Given the description of an element on the screen output the (x, y) to click on. 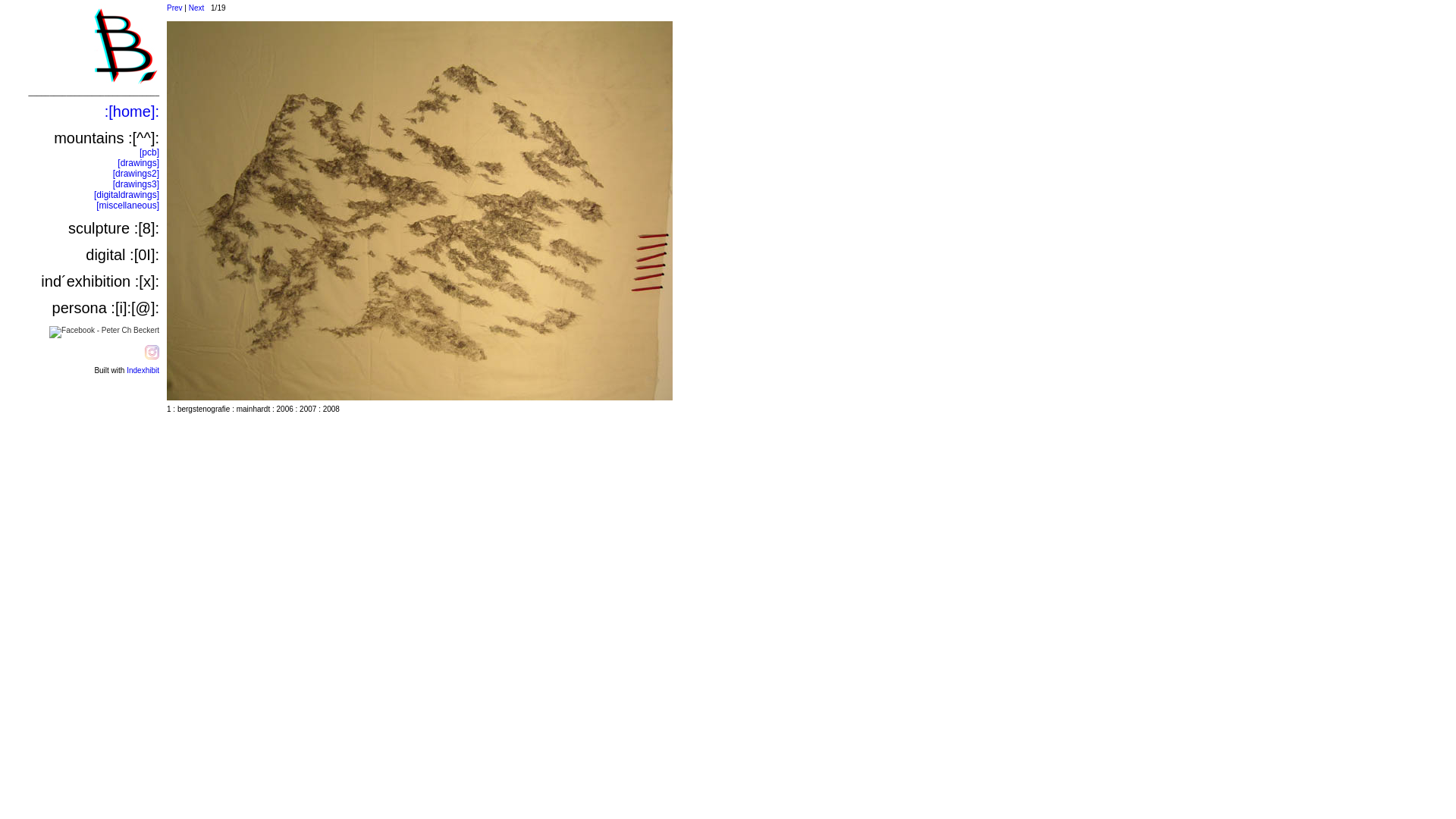
Peter Ch Beckert on Instagram Element type: hover (151, 356)
[drawings] Element type: text (138, 162)
Indexhibit Element type: text (142, 370)
[pcb] Element type: text (149, 152)
[digitaldrawings] Element type: text (126, 194)
Peter Ch Beckert on Facebook Element type: hover (104, 330)
[miscellaneous] Element type: text (127, 205)
Next Element type: text (196, 7)
[drawings3] Element type: text (135, 183)
[drawings2] Element type: text (135, 173)
Prev Element type: text (174, 7)
:[home]: Element type: text (131, 111)
